Given the description of an element on the screen output the (x, y) to click on. 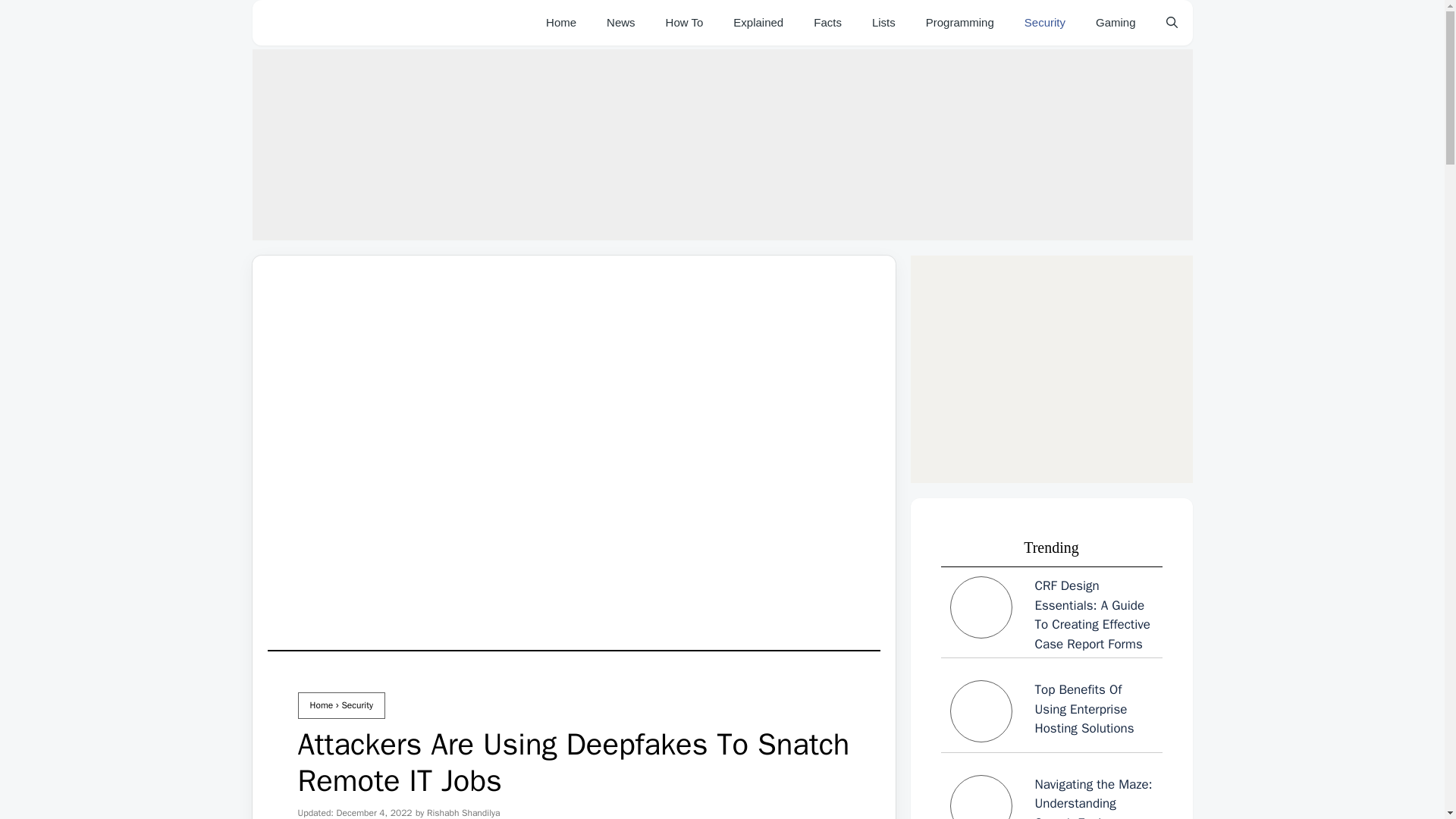
Rishabh Shandilya (463, 812)
Security (1044, 22)
Top Benefits Of Using Enterprise Hosting Solutions (1083, 708)
Home (320, 705)
Lists (884, 22)
Top Lists (884, 22)
Navigating the Maze: Understanding Search Engine Redirects (1051, 796)
Home (561, 22)
Facts (827, 22)
View all posts by Rishabh Shandilya (463, 812)
Top Benefits Of Using Enterprise Hosting Solutions (1051, 714)
How To (684, 22)
Explained (757, 22)
